Given the description of an element on the screen output the (x, y) to click on. 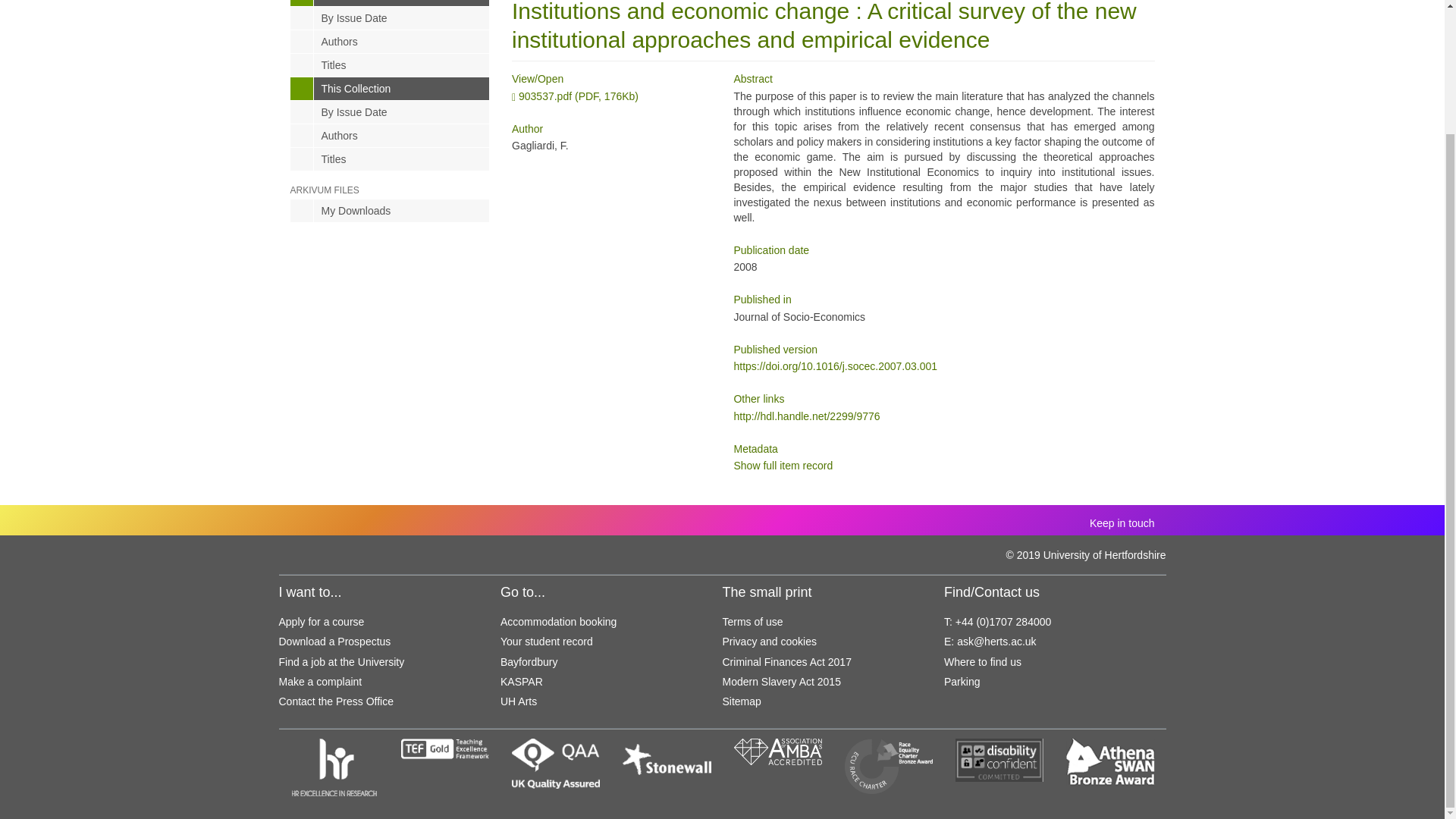
Your student record (546, 641)
UH Arts (518, 701)
KASPAR (521, 681)
Accommodation booking (557, 621)
This Collection (389, 87)
Make a complaint (320, 681)
Authors (389, 135)
Apply for a course (322, 621)
By Issue Date (389, 111)
All of UHRA (389, 2)
